Given the description of an element on the screen output the (x, y) to click on. 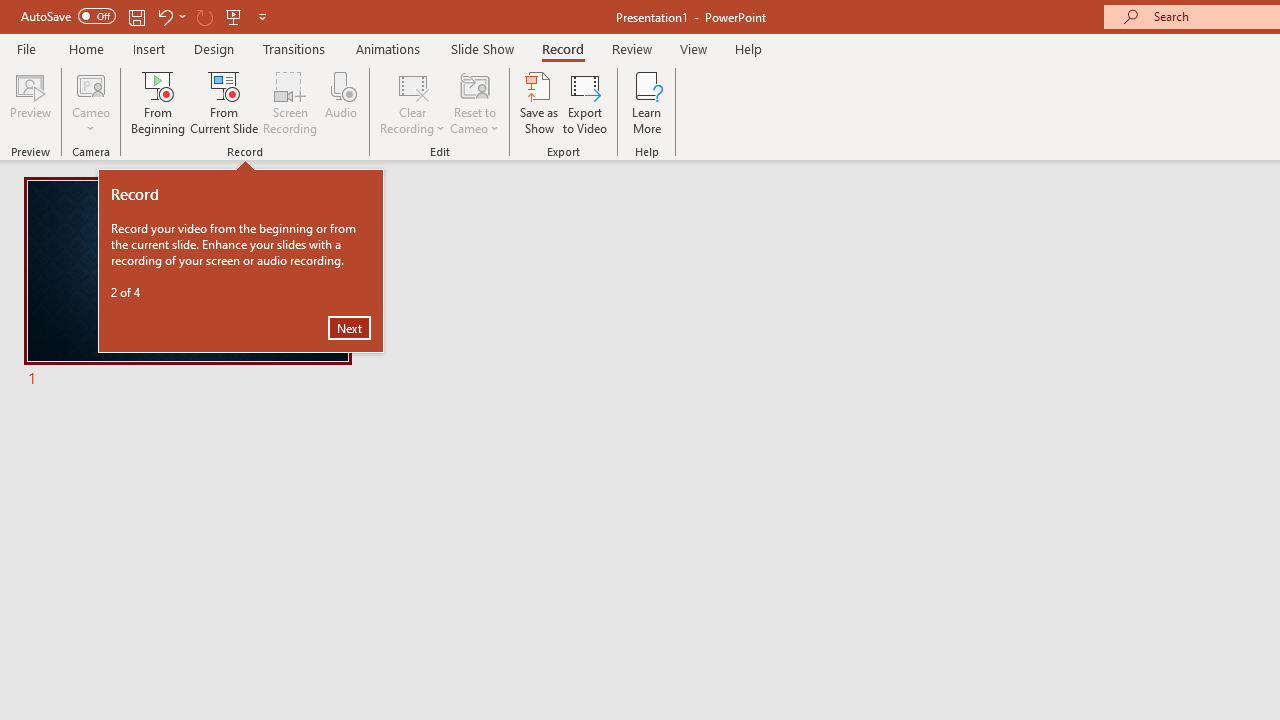
Preview (30, 102)
Customize Quick Access Toolbar (262, 15)
Reset to Cameo (474, 102)
From Beginning (234, 15)
Save (136, 15)
Export to Video (585, 102)
File Tab (26, 48)
Insert (149, 48)
Transitions (294, 48)
Quick Access Toolbar (145, 16)
Review (631, 48)
Save as Show (539, 102)
